Given the description of an element on the screen output the (x, y) to click on. 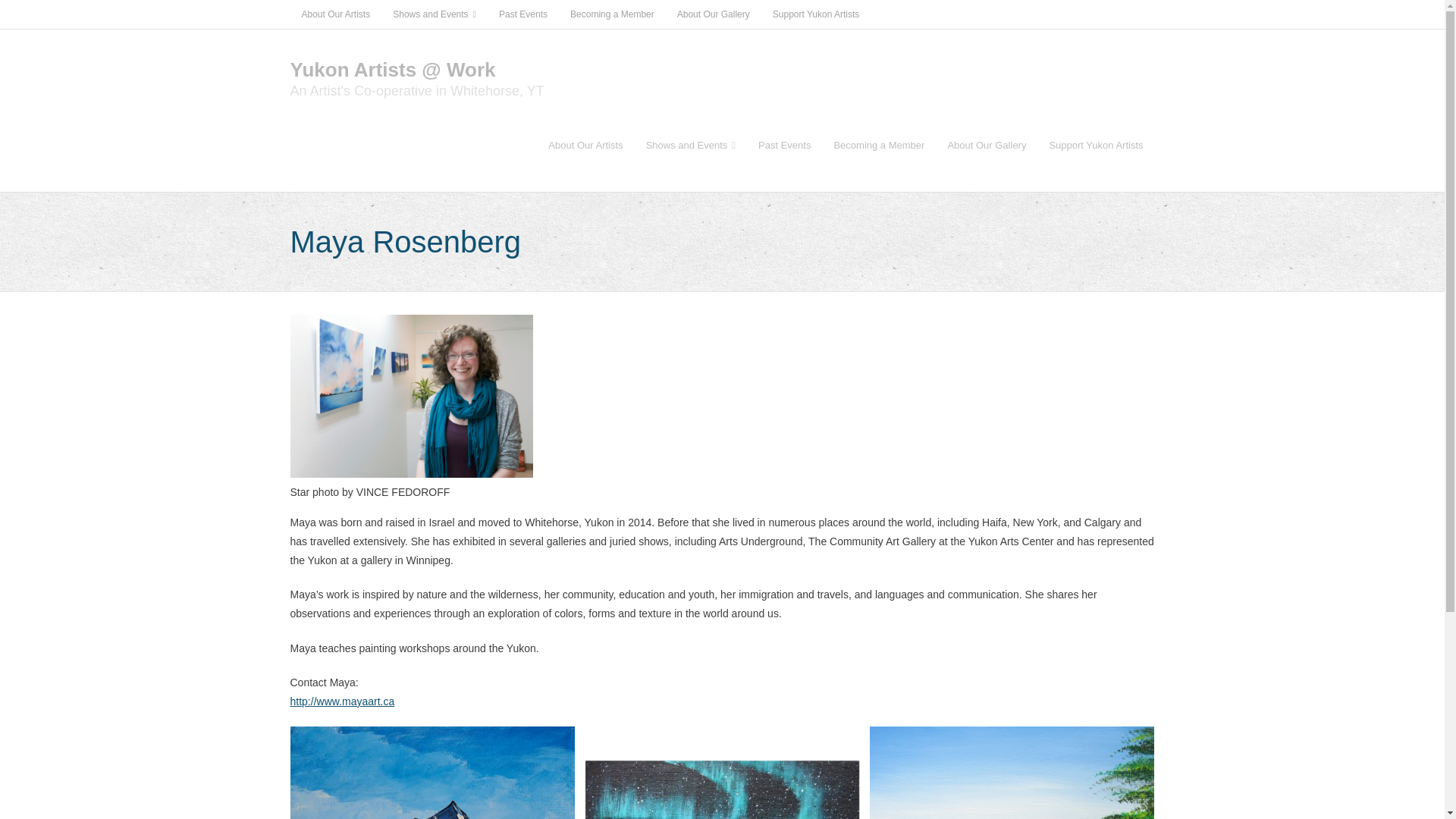
Shows and Events (690, 144)
Support Yukon Artists (815, 14)
About Our Gallery (986, 144)
About Our Artists (585, 144)
About Our Artists (335, 14)
About Our Gallery (713, 14)
An Artist's Co-operative in Whitehorse, YT (416, 90)
Shows and Events (434, 14)
Past Events (523, 14)
Becoming a Member (612, 14)
